Given the description of an element on the screen output the (x, y) to click on. 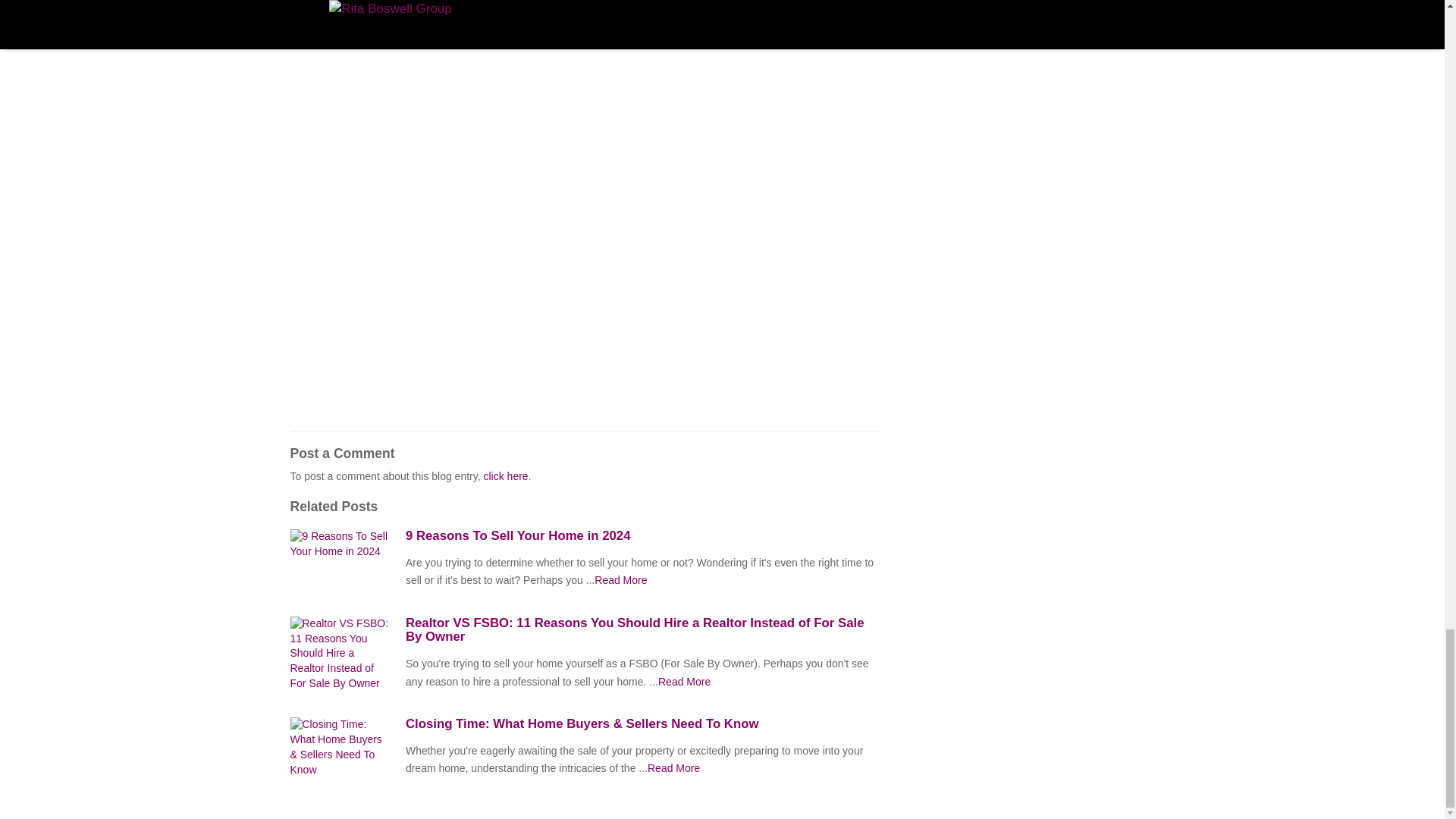
Everything You Need To Know About  (684, 681)
Everything You Need To Know About  (620, 580)
9 Reasons To Sell Your Home in 2024 (643, 535)
